Given the description of an element on the screen output the (x, y) to click on. 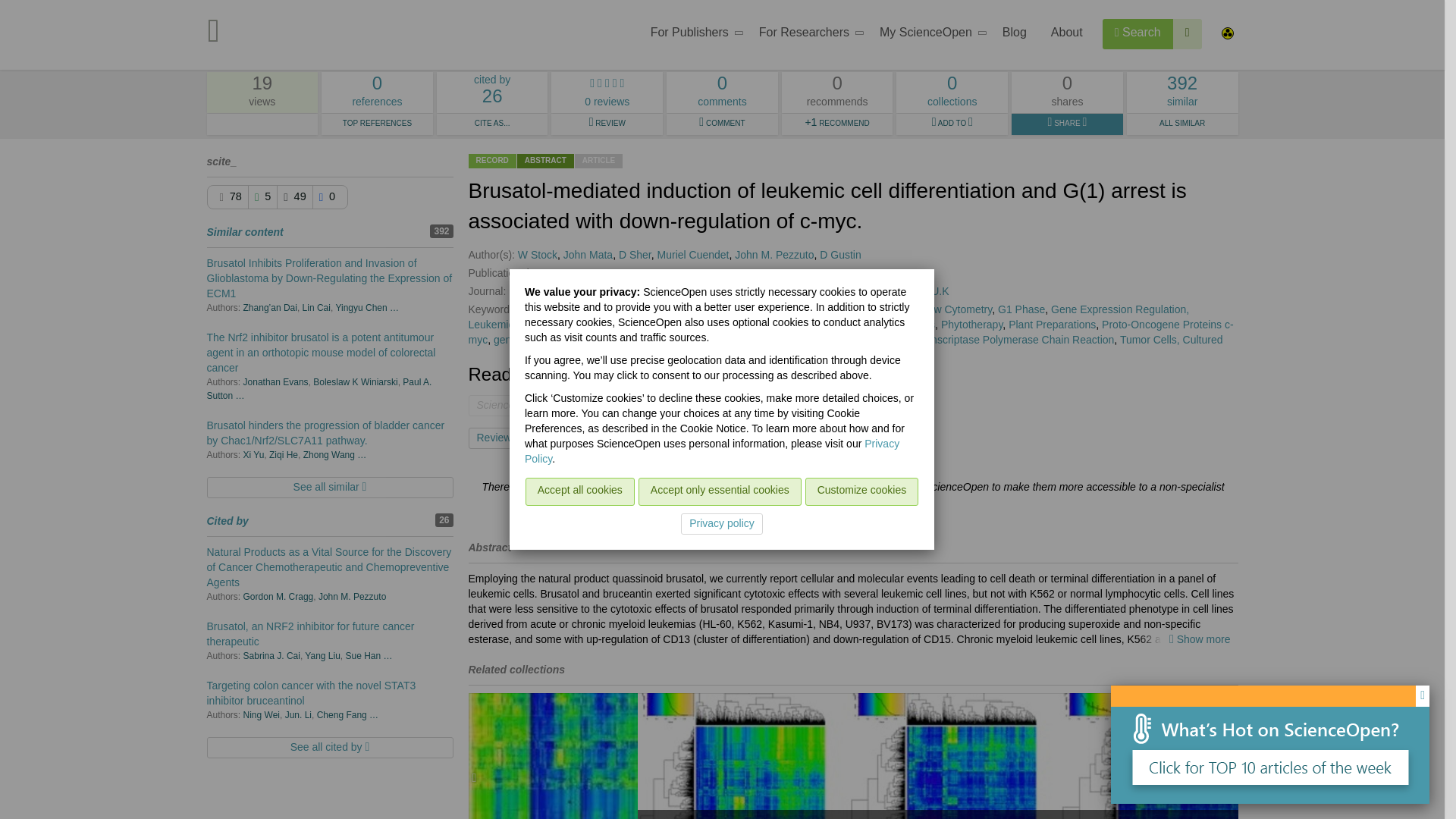
My ScienceOpen (928, 34)
For Publishers (692, 34)
For Researchers (376, 92)
Advanced search (806, 34)
Search (1187, 33)
Bookmark (1137, 33)
